Given the description of an element on the screen output the (x, y) to click on. 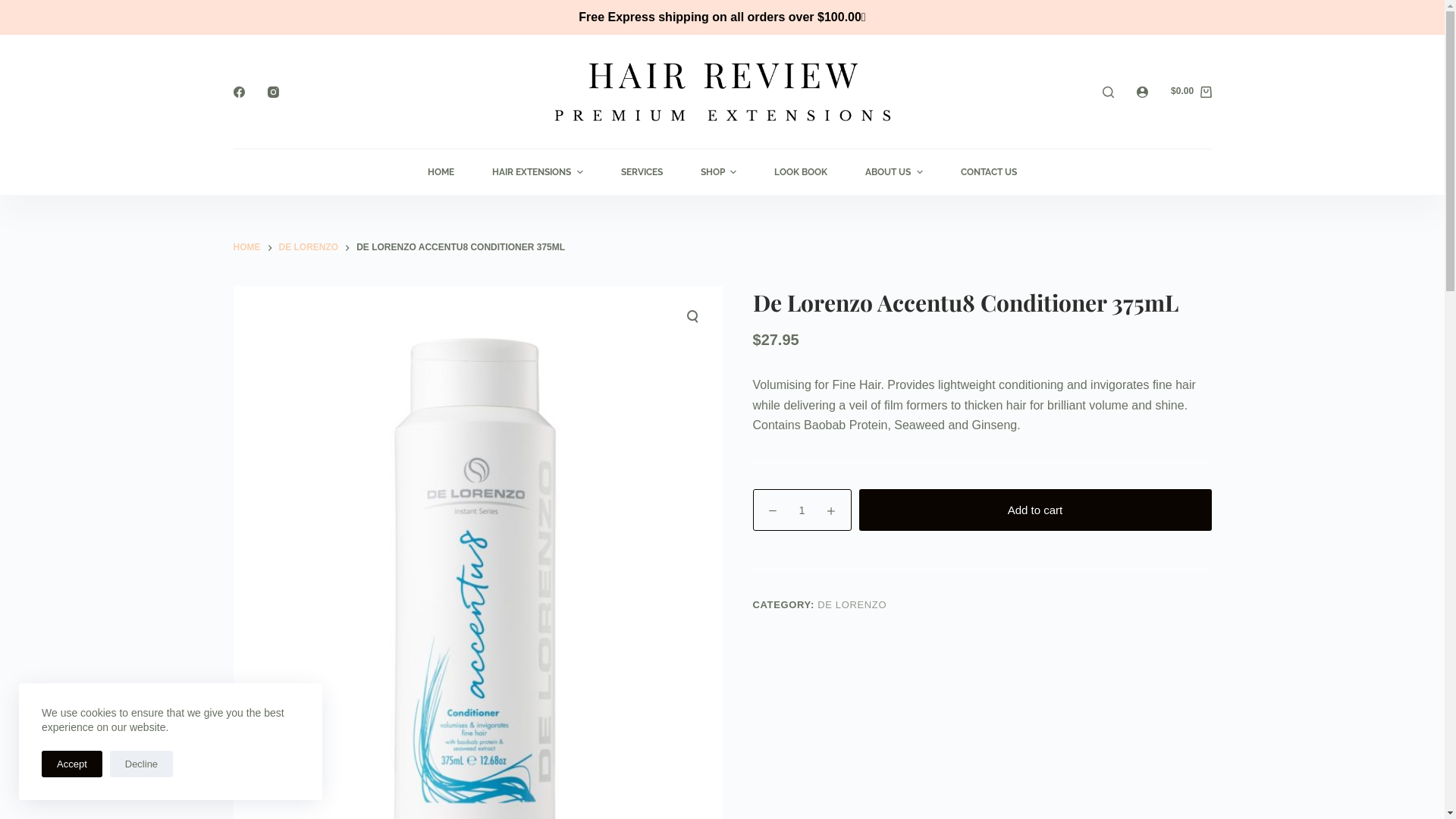
HAIR EXTENSIONS Element type: text (537, 171)
HAIR EXTENSIONS Element type: text (829, 373)
Decline Element type: text (140, 763)
SERVICES Element type: text (913, 373)
Hair Extension Care & Maintenance Element type: text (582, 535)
HOME Element type: text (440, 171)
$0.00 Element type: text (1190, 91)
SERVICES Element type: text (641, 171)
DE LORENZO Element type: text (308, 247)
HOME Element type: text (246, 247)
ABOUT US Element type: text (893, 171)
Skip to content Element type: text (15, 7)
HOME Element type: text (755, 373)
Privacy Policy + Terms & Conditions Element type: text (838, 515)
SHIPPING & RETURNS Element type: text (1161, 395)
Hair Review Premium Extensions Element type: text (323, 535)
07 5482 6665 Element type: text (1079, 595)
Hair Review Salon Services Element type: text (307, 555)
DE LORENZO Element type: text (851, 604)
WHOLESALE ACCOUNTS Element type: text (1010, 373)
Add to cart Element type: text (1034, 509)
LOOK BOOK Element type: text (800, 171)
Wholesale Application Element type: text (545, 515)
Shipping & Returns Element type: text (793, 535)
SHOP Element type: text (718, 171)
ABOUT US Element type: text (1109, 373)
0428 020 759 Element type: text (1079, 649)
Hair Review In Salon Element type: text (289, 515)
CONTACT US Element type: text (988, 171)
info@hairreview.com.au Element type: text (1105, 702)
CONTACT US Element type: text (1181, 373)
Accept Element type: text (71, 763)
